Given the description of an element on the screen output the (x, y) to click on. 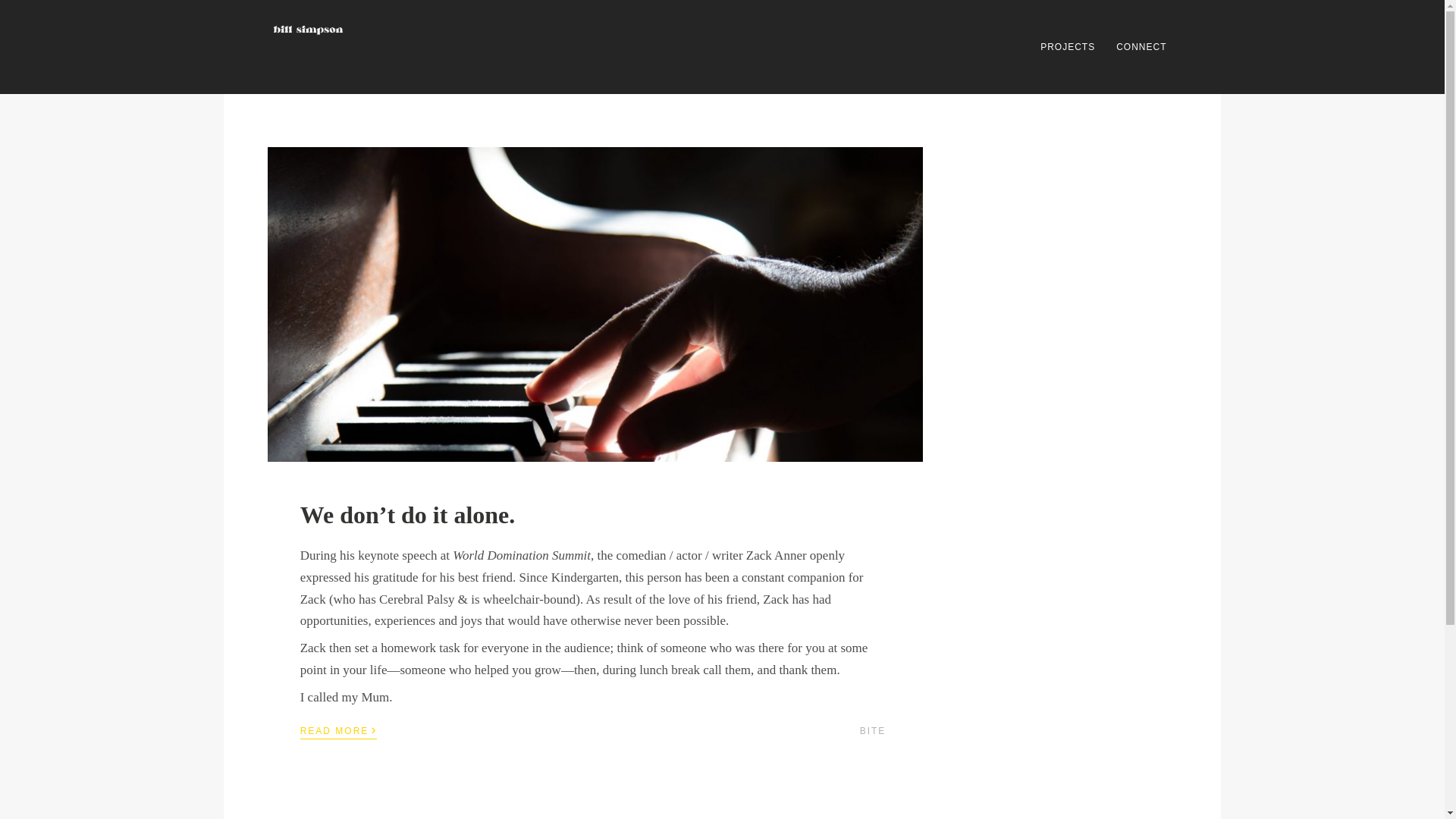
PROJECTS (1067, 46)
BITE (873, 730)
CONNECT (1140, 46)
